Given the description of an element on the screen output the (x, y) to click on. 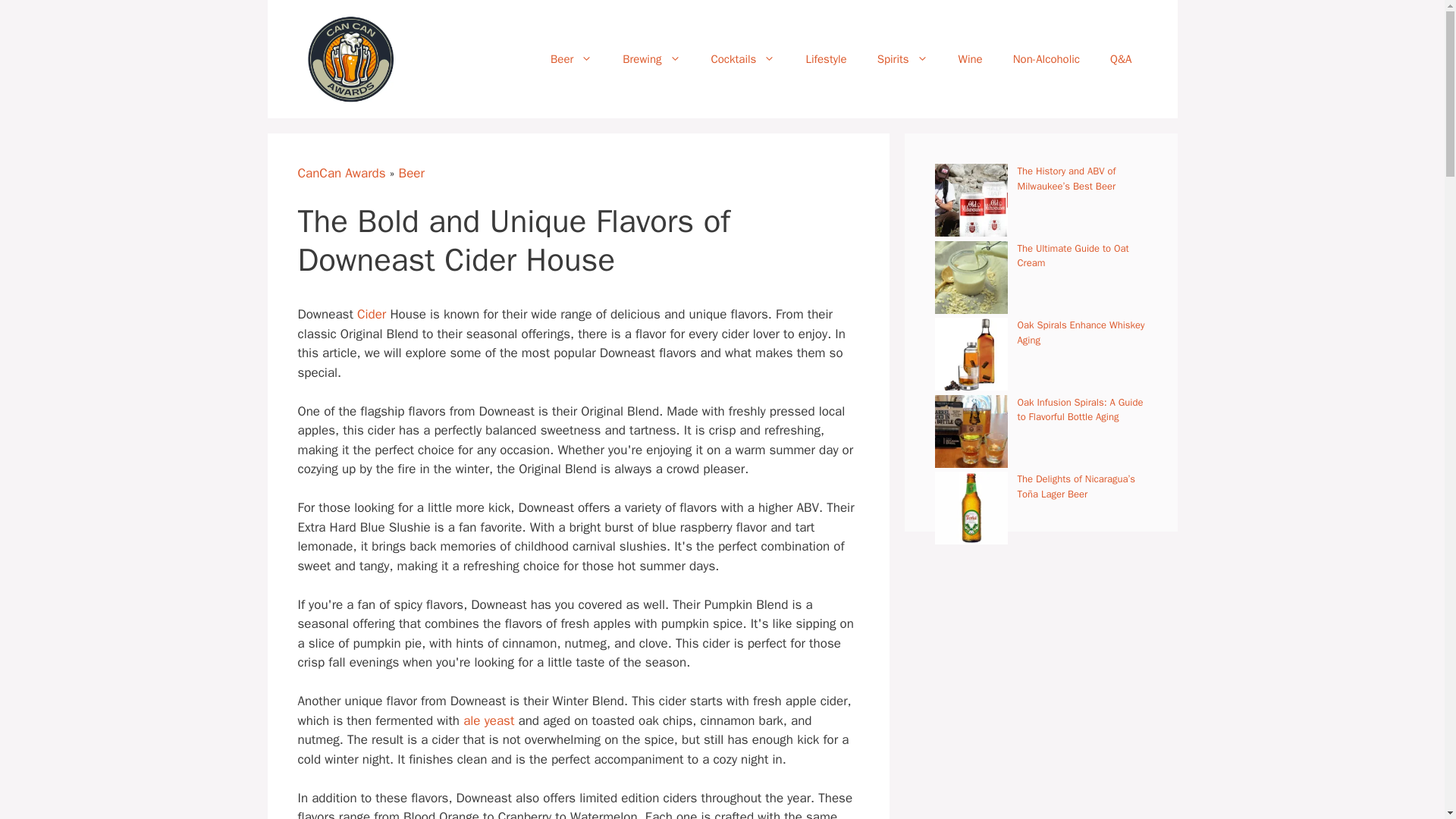
The Ultimate Guide to Oat Cream 2 (970, 276)
Cocktails (742, 58)
The History and ABV of Milwaukee's Best Beer 1 (970, 199)
Brewing (651, 58)
Oak Infusion Spirals: A Guide to Flavorful Bottle Aging 4 (970, 430)
Oak Spirals Enhance Whiskey Aging 3 (970, 353)
Spirits (902, 58)
Wine (970, 58)
Lifestyle (825, 58)
Beer (571, 58)
Non-Alcoholic (1045, 58)
